Given the description of an element on the screen output the (x, y) to click on. 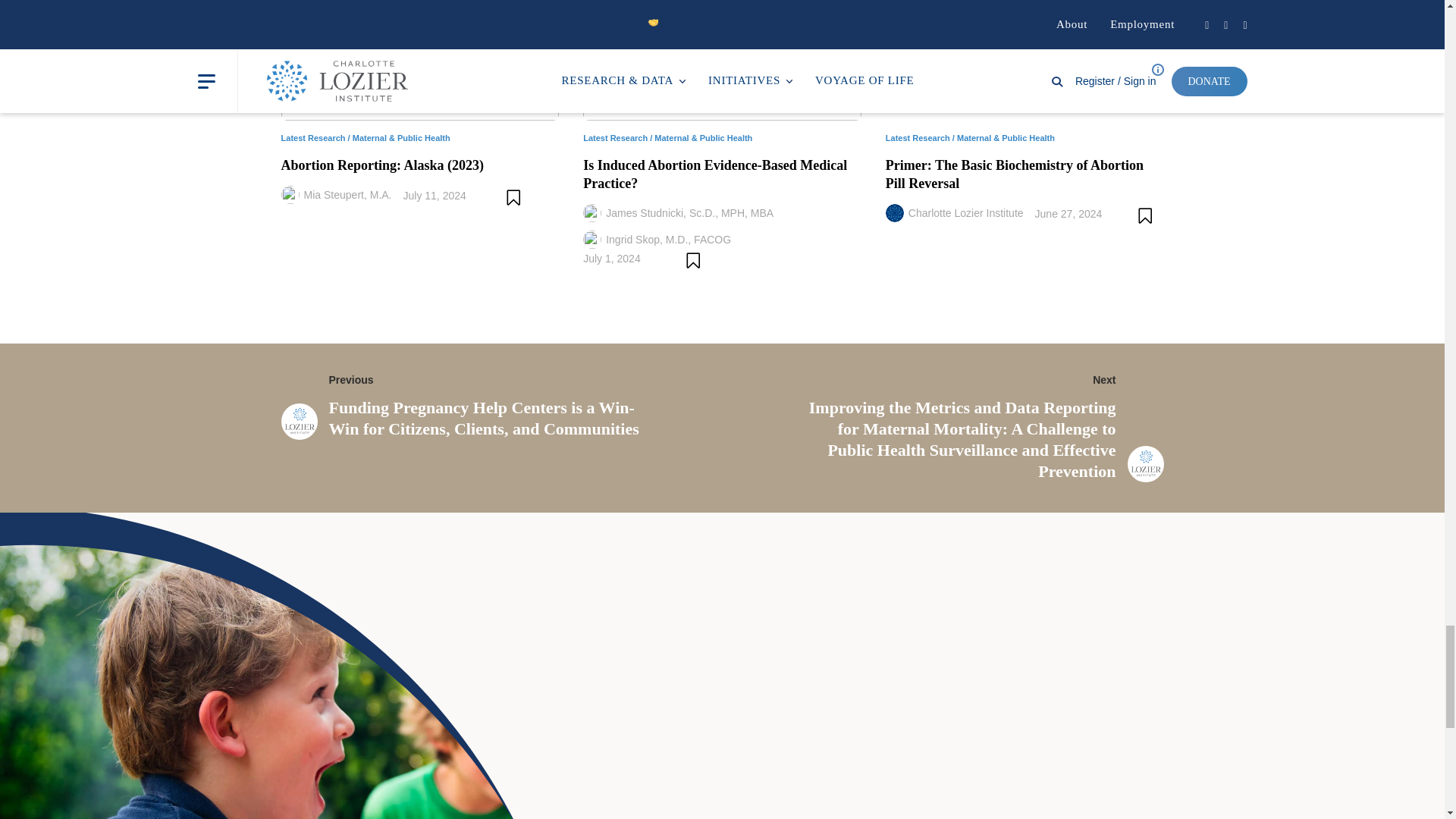
Bookmark This (694, 259)
Bookmark This (514, 197)
Bookmark This (1146, 215)
